Given the description of an element on the screen output the (x, y) to click on. 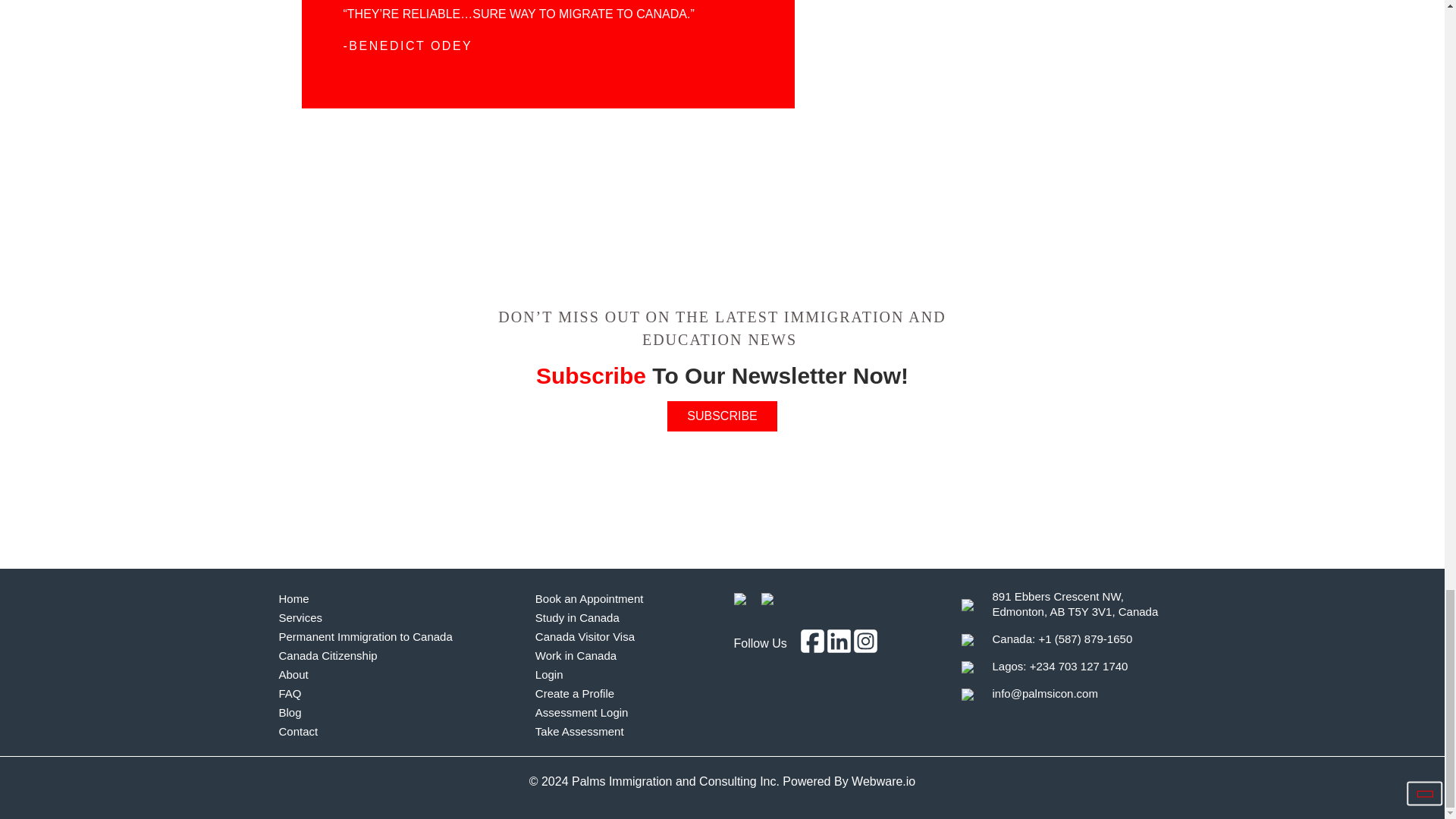
Canada Citizenship (399, 655)
YouTube video player (341, 371)
Canada Visitor Visa (623, 636)
Home (399, 598)
Services (399, 617)
Permanent Immigration to Canada (399, 636)
Study in Canada (623, 617)
SUBSCRIBE (721, 416)
YouTube video player (1102, 371)
Work in Canada (623, 655)
